Given the description of an element on the screen output the (x, y) to click on. 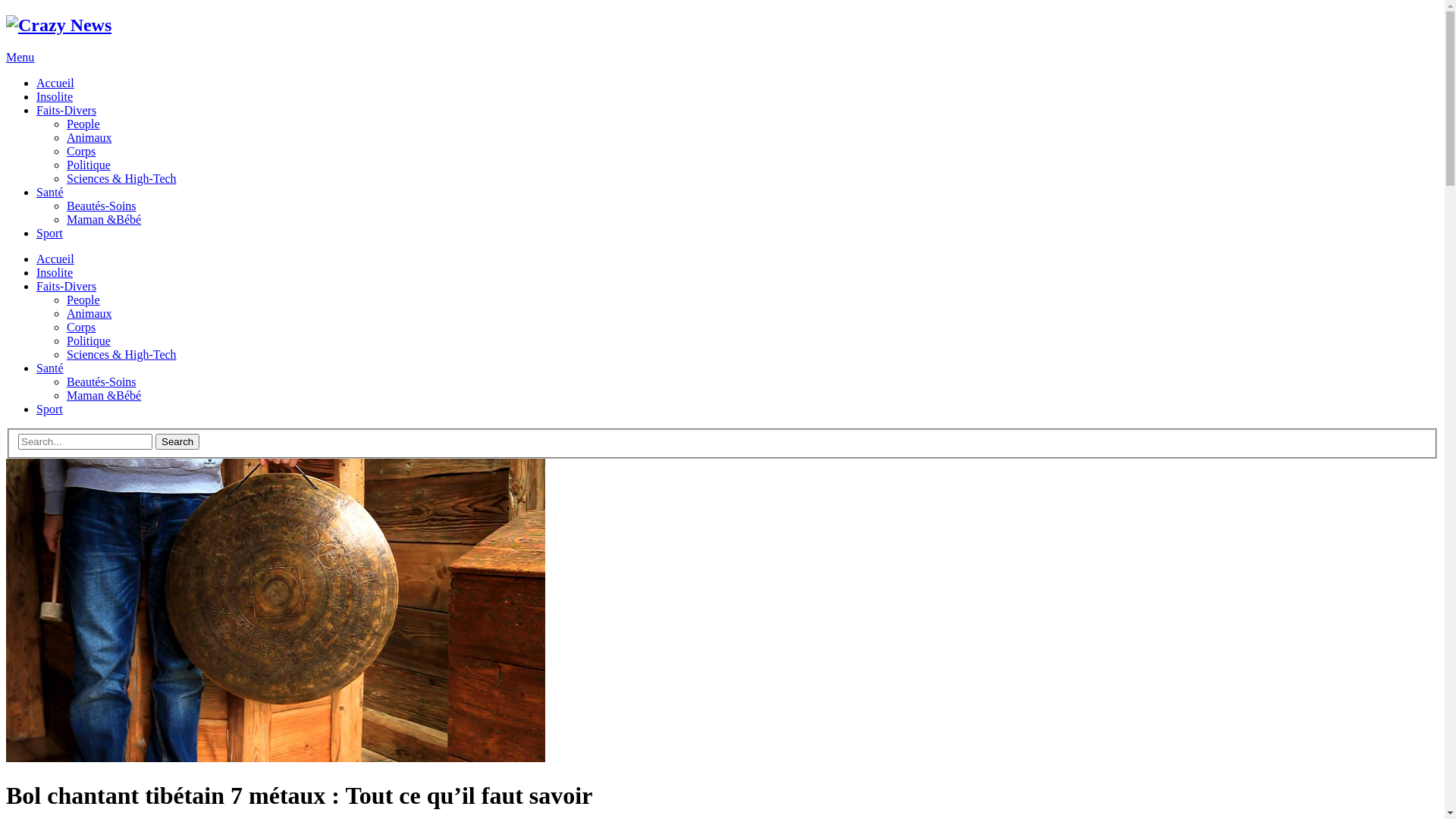
Corps Element type: text (80, 326)
Politique Element type: text (88, 164)
Sport Element type: text (49, 232)
Sciences & High-Tech Element type: text (121, 178)
Sport Element type: text (49, 408)
People Element type: text (83, 123)
Sciences & High-Tech Element type: text (121, 354)
Accueil Element type: text (55, 82)
Insolite Element type: text (54, 272)
Corps Element type: text (80, 150)
Animaux Element type: text (89, 137)
Insolite Element type: text (54, 96)
Faits-Divers Element type: text (66, 109)
Politique Element type: text (88, 340)
Search Element type: text (177, 441)
Animaux Element type: text (89, 313)
Accueil Element type: text (55, 258)
Menu Element type: text (20, 56)
People Element type: text (83, 299)
Faits-Divers Element type: text (66, 285)
